Given the description of an element on the screen output the (x, y) to click on. 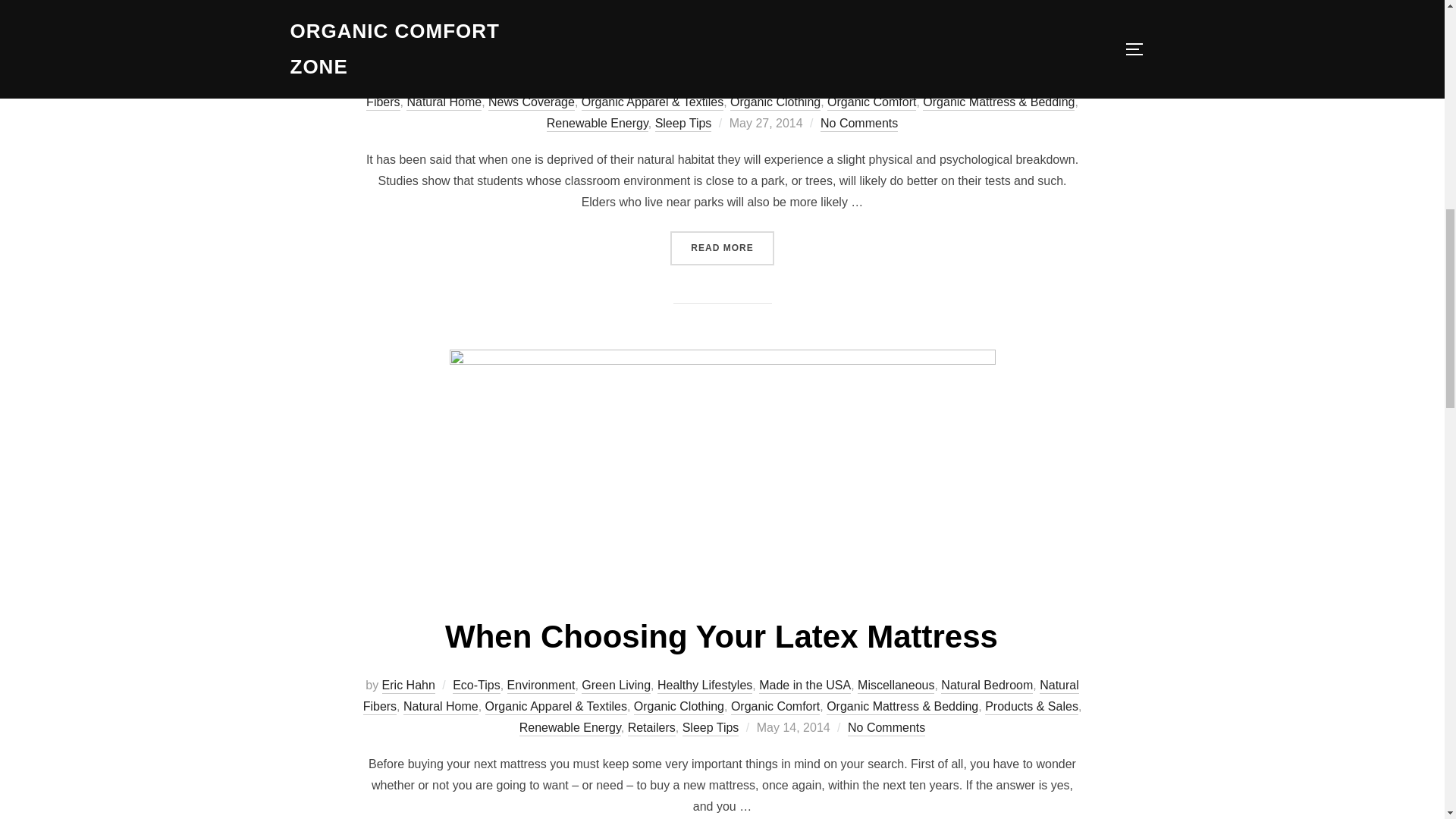
Environment (540, 81)
Natural Bedroom (986, 81)
Healthy Lifestyles (705, 81)
Eric Hahn (408, 81)
Natural Fibers (722, 92)
Made in the USA (804, 81)
Natural Home (443, 102)
Eco-Tips (476, 81)
The Benefits of the Outdoors (721, 31)
Green Living (615, 81)
Miscellaneous (895, 81)
